Given the description of an element on the screen output the (x, y) to click on. 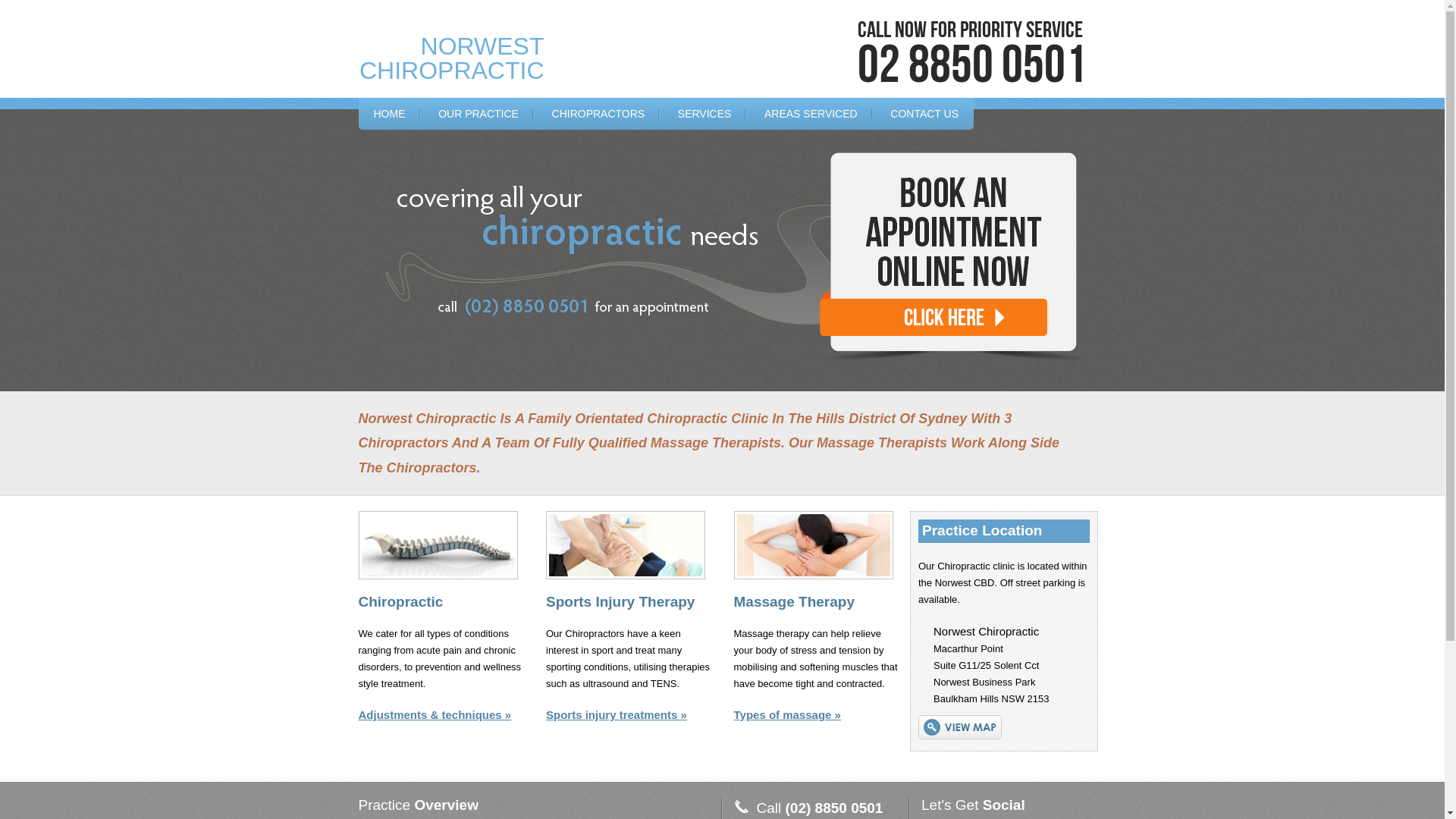
SERVICES Element type: text (704, 113)
02 8850 0501 Element type: text (970, 65)
OUR PRACTICE Element type: text (478, 113)
CONTACT US Element type: text (924, 113)
CHIROPRACTORS Element type: text (598, 113)
HOME Element type: text (388, 113)
NORWEST CHIROPRACTIC Element type: text (451, 58)
AREAS SERVICED Element type: text (810, 113)
